Given the description of an element on the screen output the (x, y) to click on. 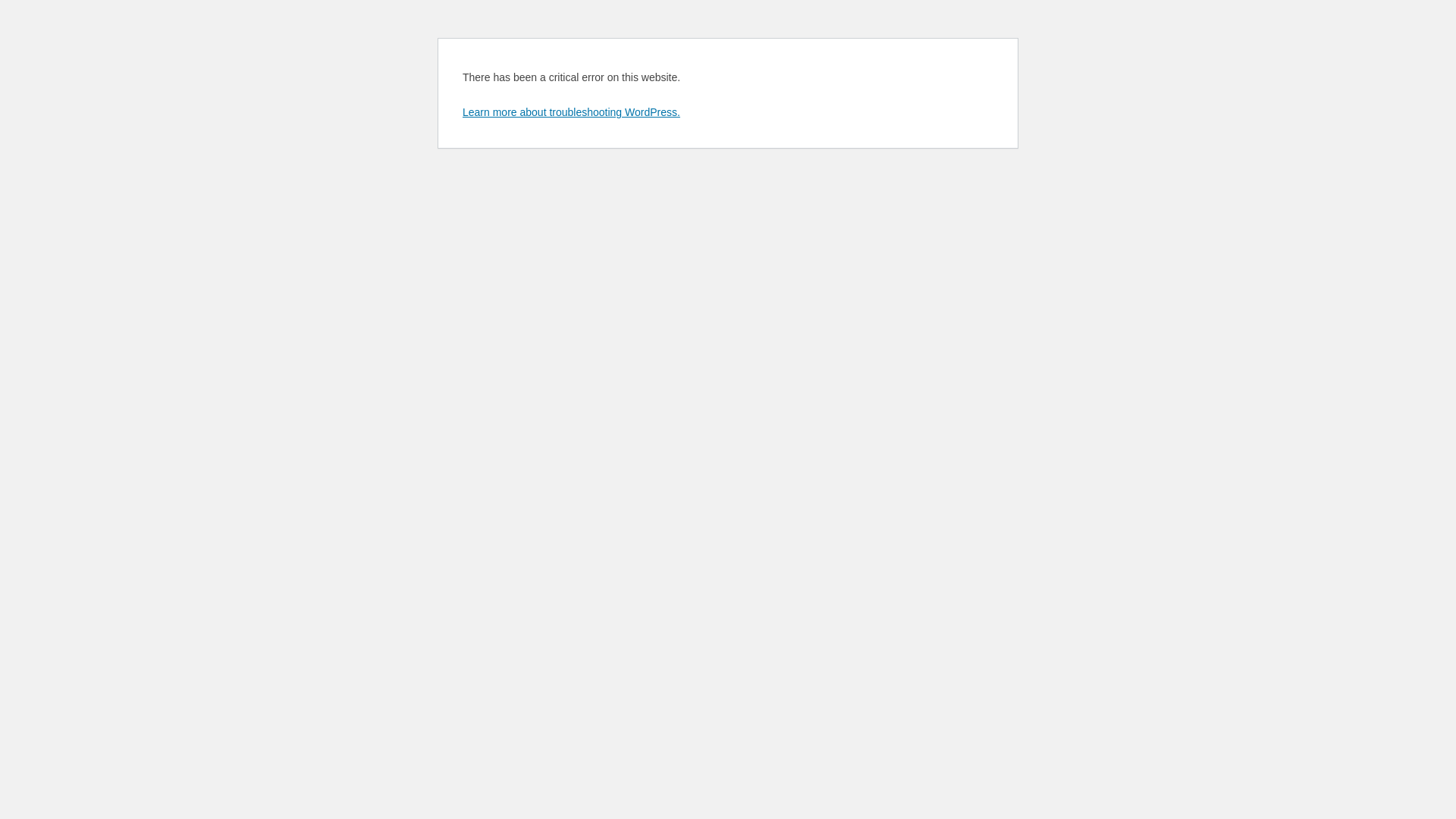
Learn more about troubleshooting WordPress. Element type: text (571, 112)
